Given the description of an element on the screen output the (x, y) to click on. 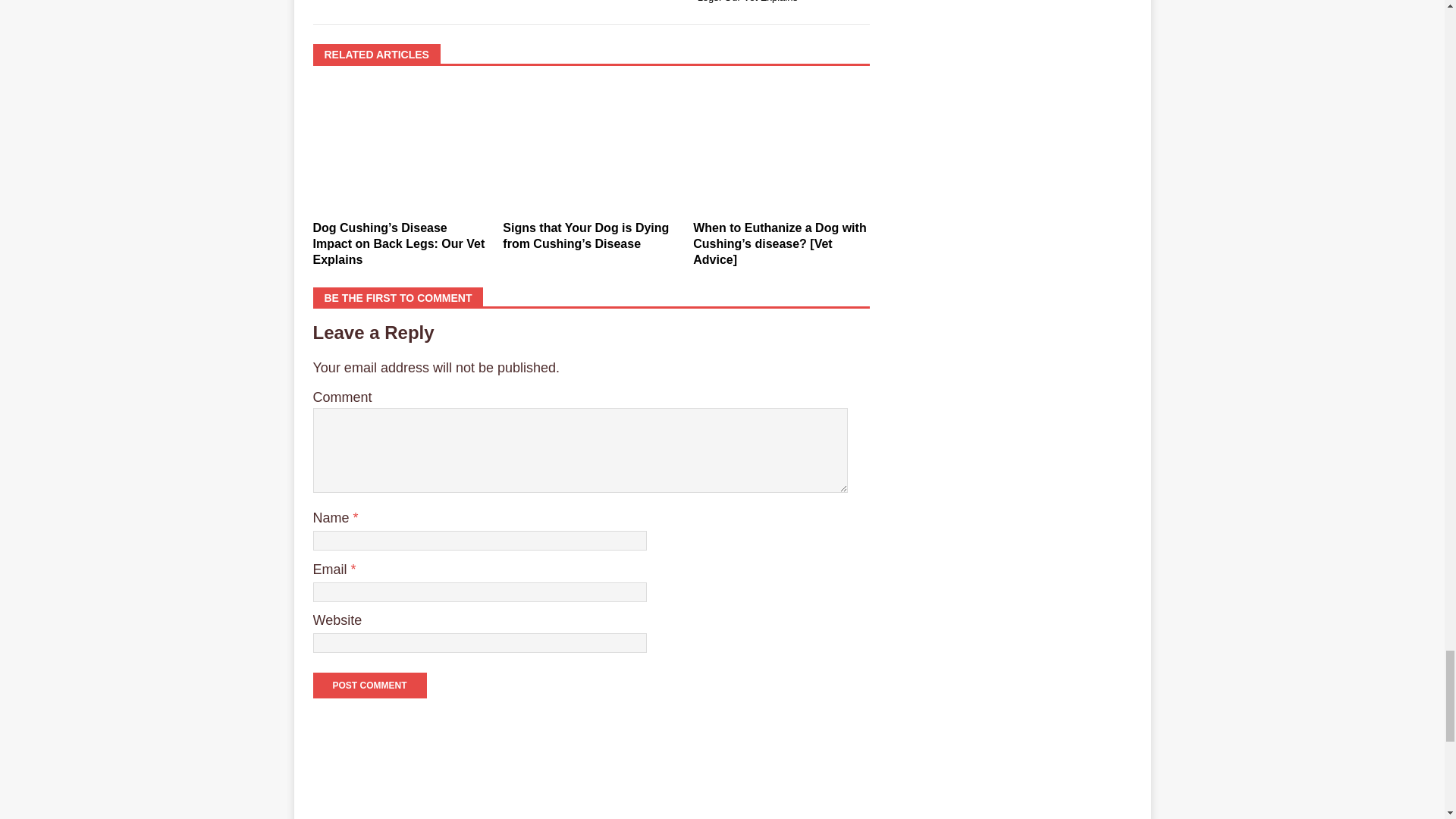
Post Comment (369, 685)
